Given the description of an element on the screen output the (x, y) to click on. 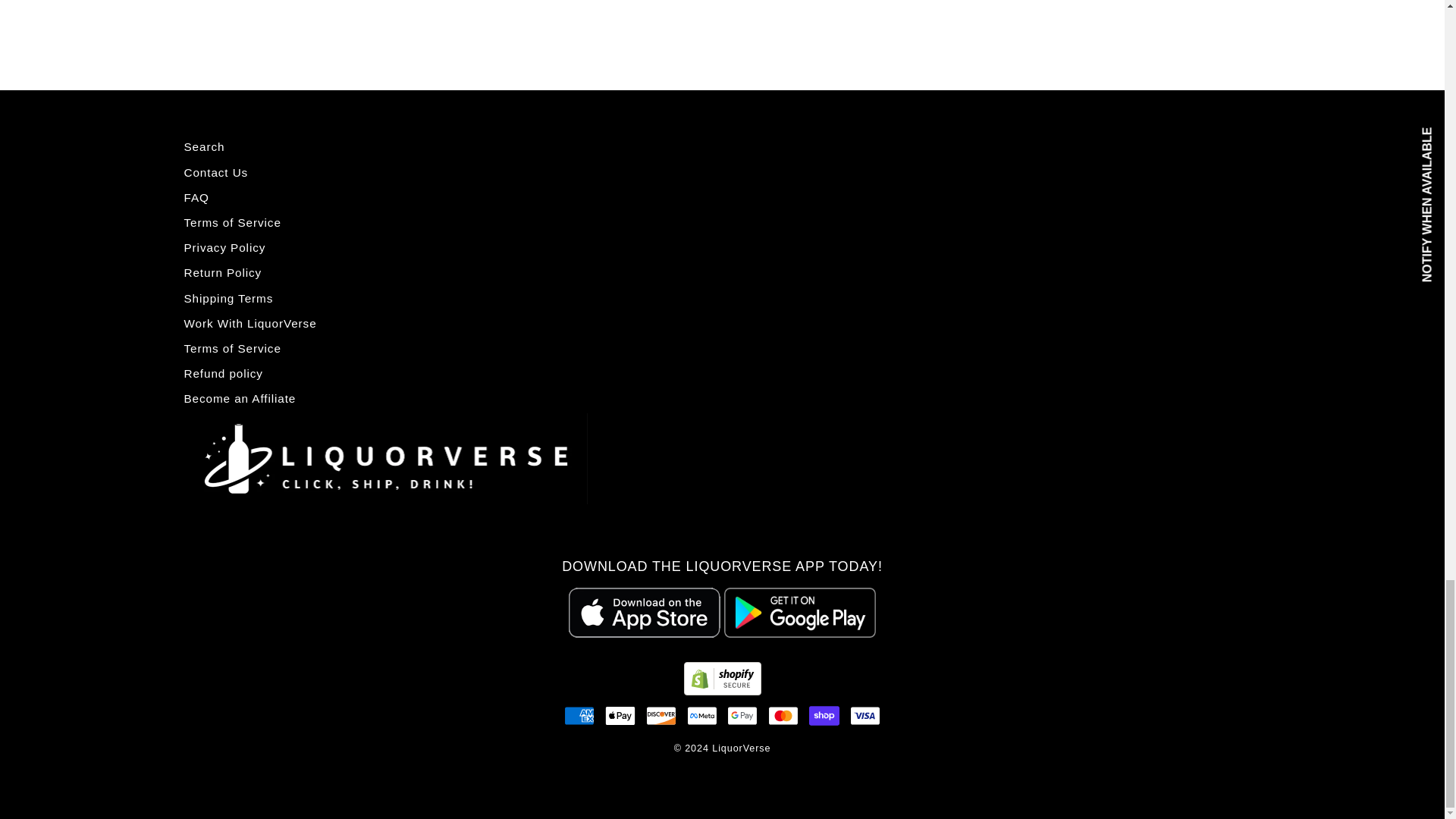
Apple Pay (619, 716)
American Express (579, 716)
Mastercard (782, 716)
Shop Pay (824, 716)
Meta Pay (702, 716)
Discover (661, 716)
This online store is secured by Shopify (722, 690)
Google Pay (741, 716)
